Given the description of an element on the screen output the (x, y) to click on. 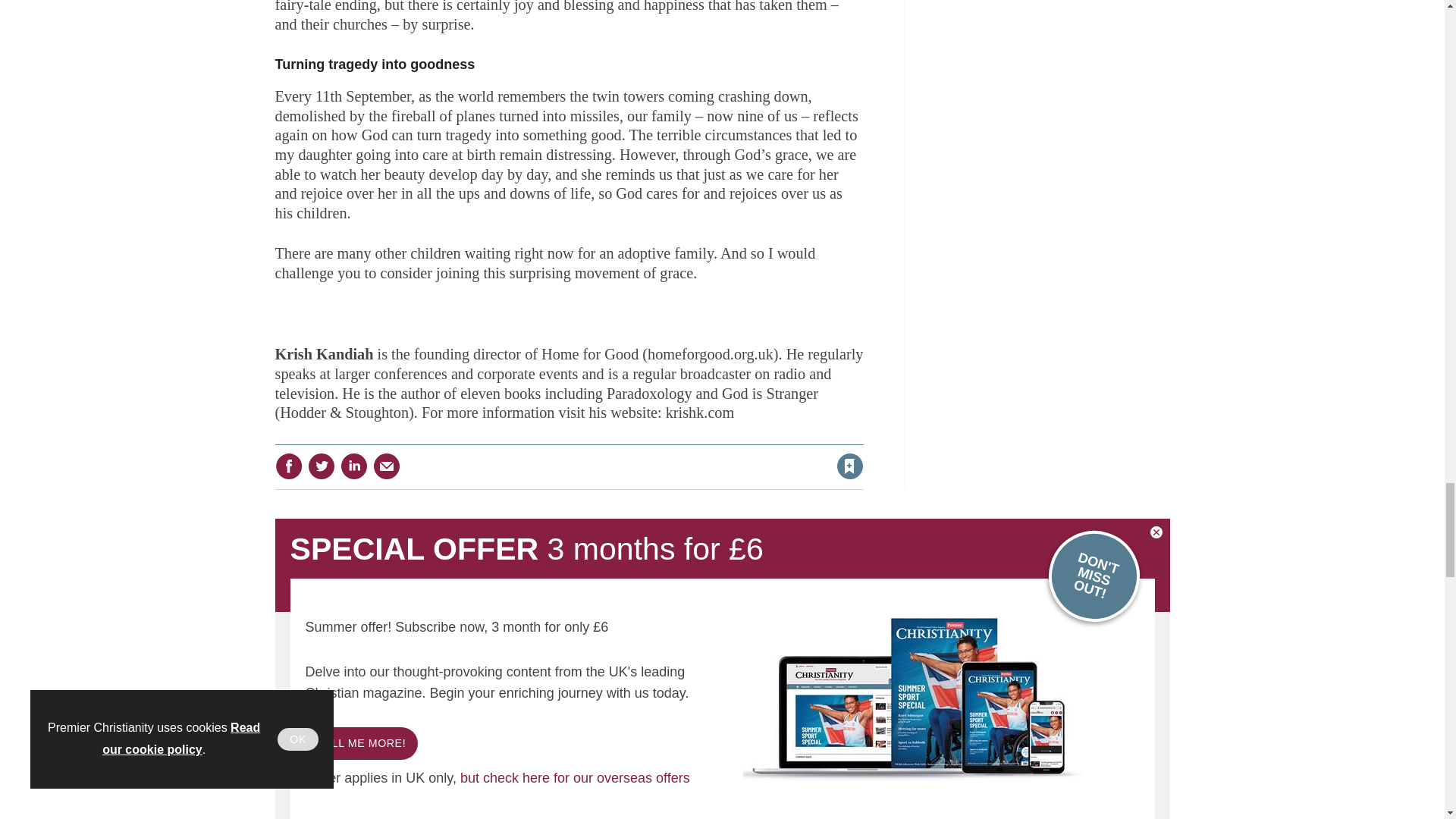
Share this on Twitter (320, 465)
Share this on Facebook (288, 465)
Email this article (386, 465)
Share this on Linked in (352, 465)
